Given the description of an element on the screen output the (x, y) to click on. 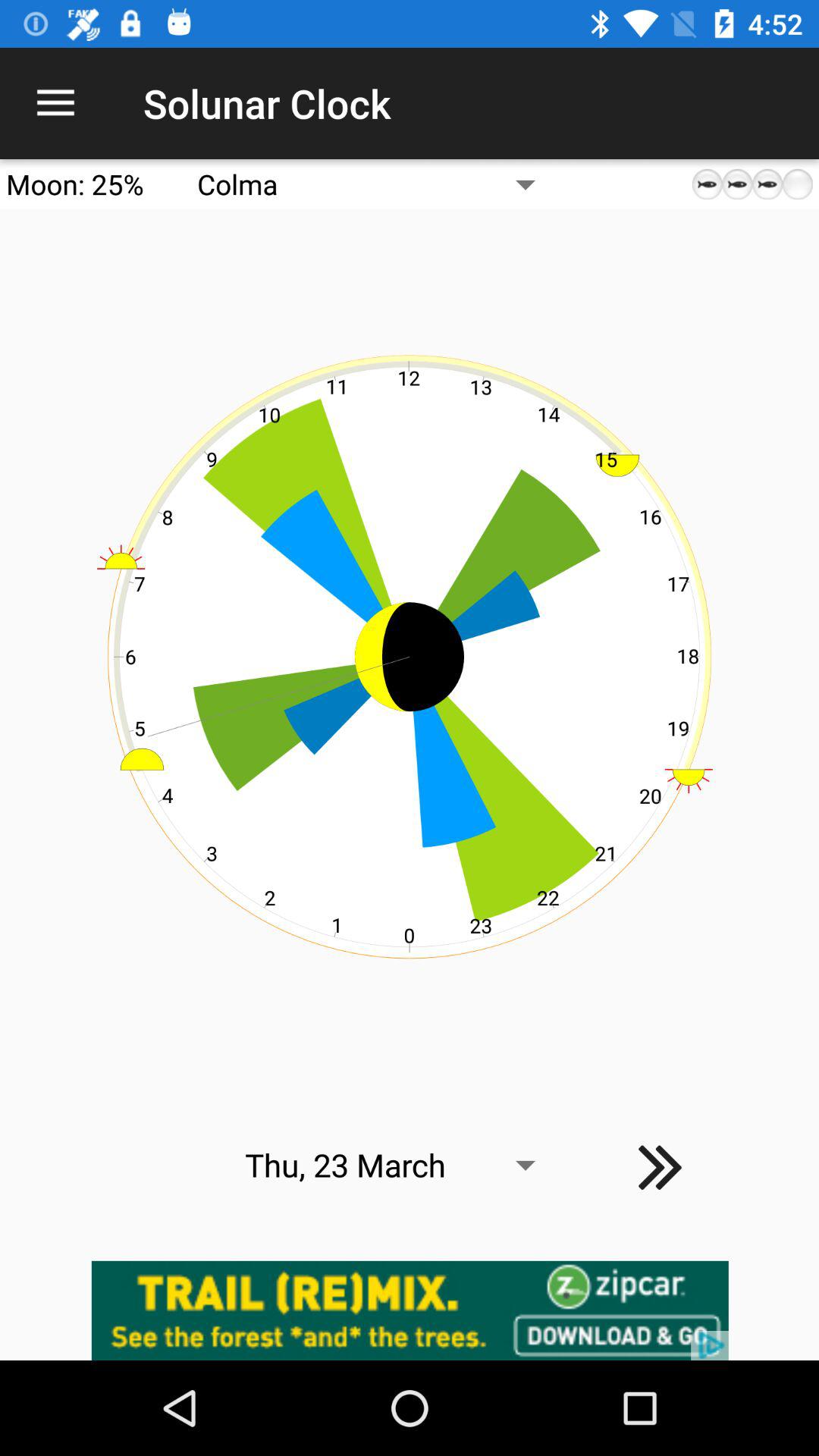
advertisement (409, 1310)
